Given the description of an element on the screen output the (x, y) to click on. 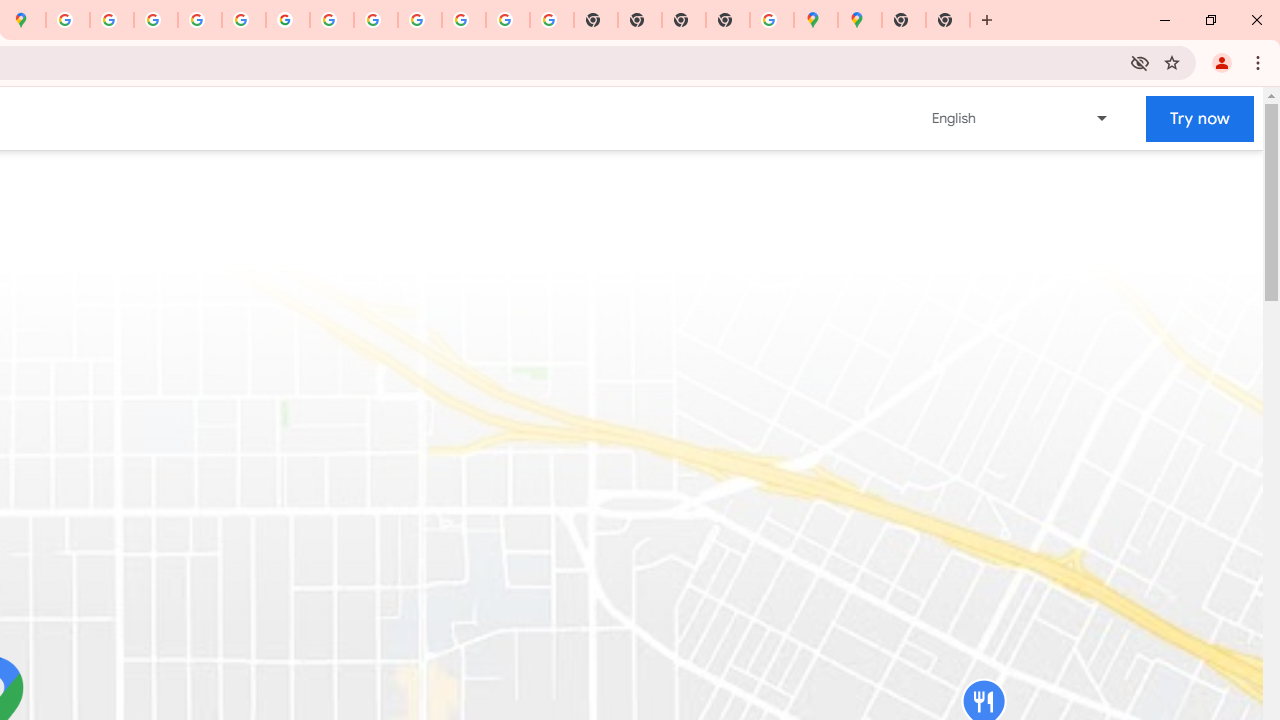
YouTube (331, 20)
Google Maps (815, 20)
New Tab (947, 20)
Sign in - Google Accounts (67, 20)
Change language or region (1021, 117)
